Given the description of an element on the screen output the (x, y) to click on. 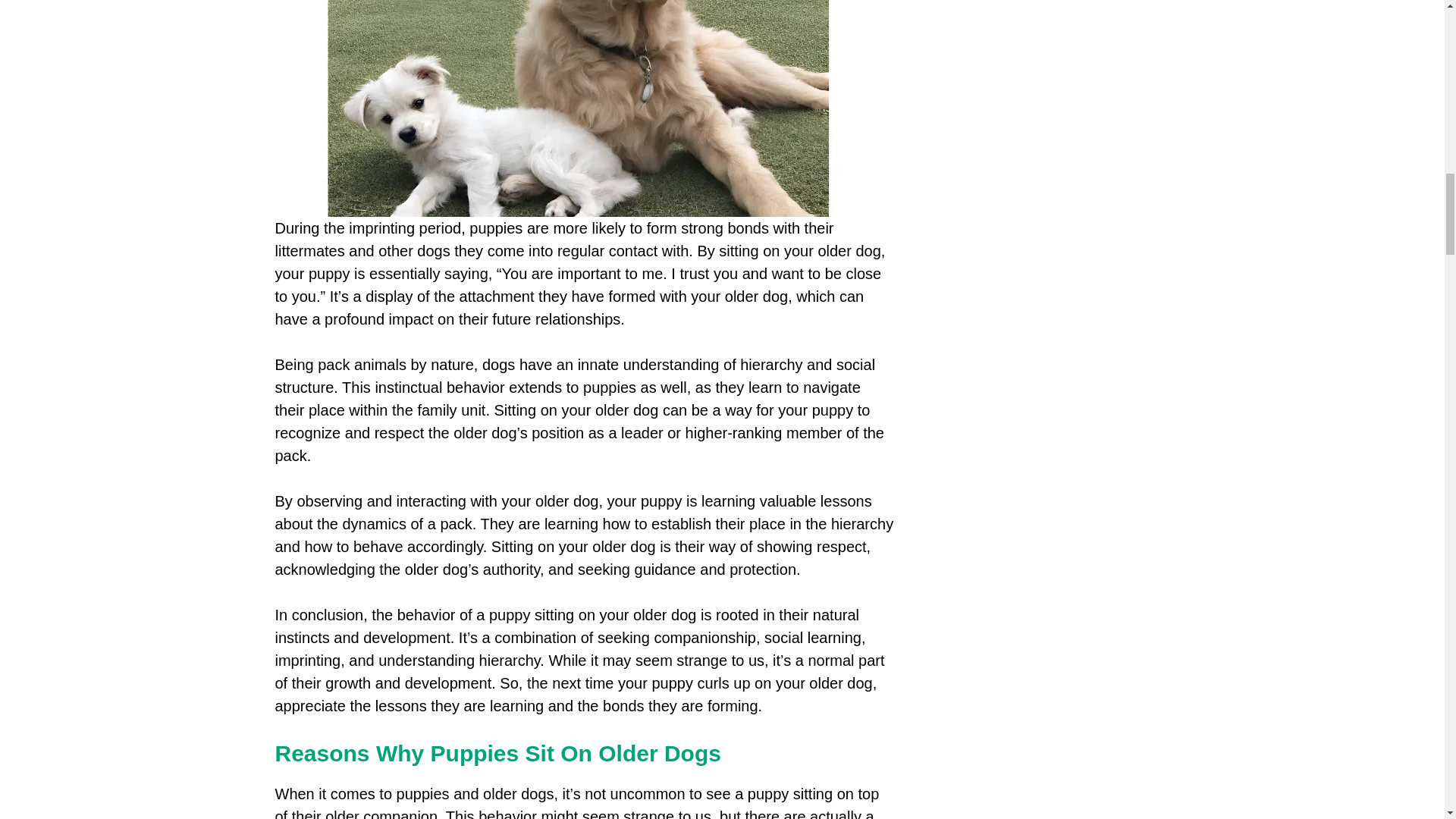
Study Behavior: Why Does My Puppy Sit on My Older Dog? 2 (577, 108)
